Given the description of an element on the screen output the (x, y) to click on. 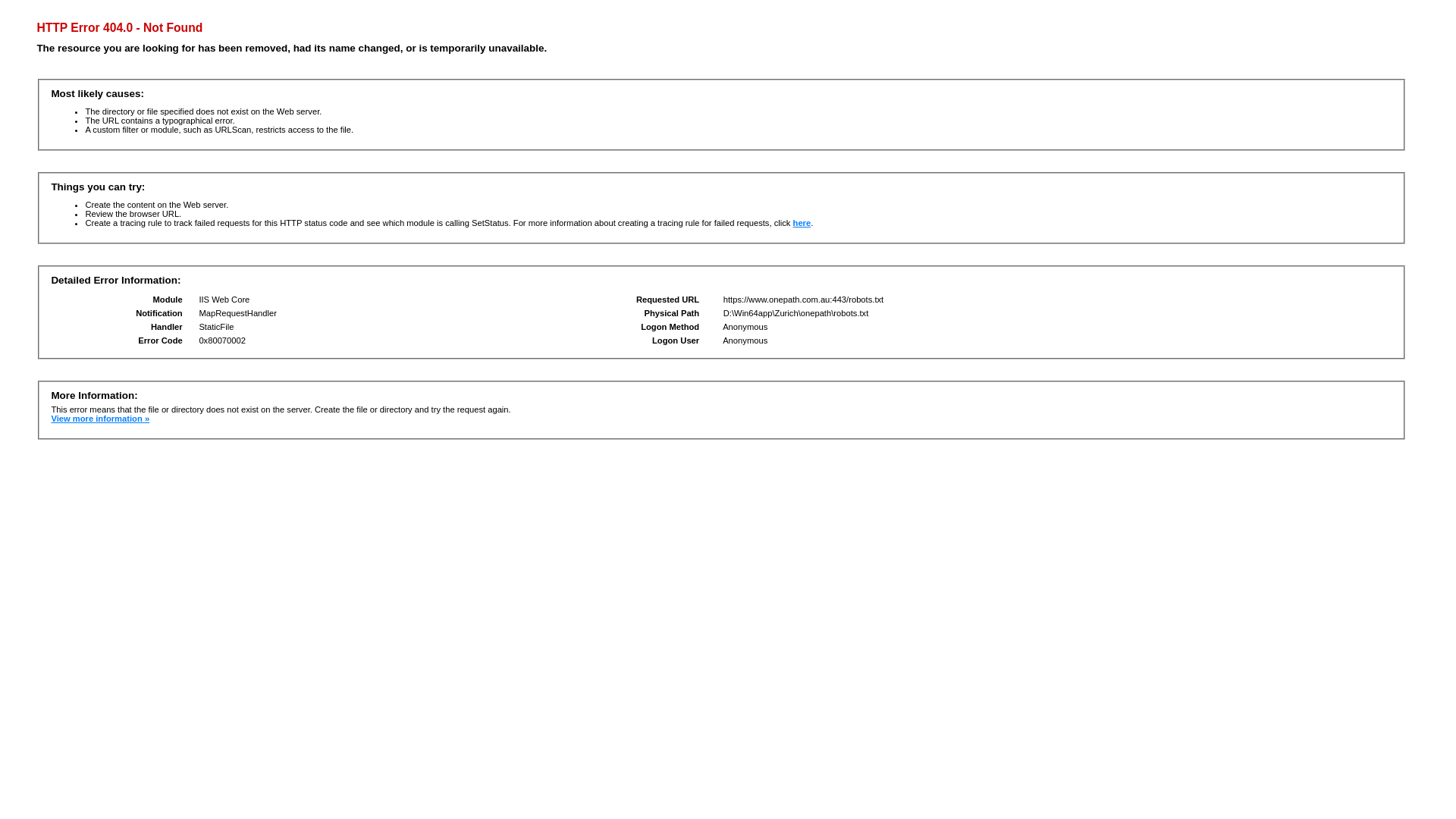
here Element type: text (802, 222)
